Given the description of an element on the screen output the (x, y) to click on. 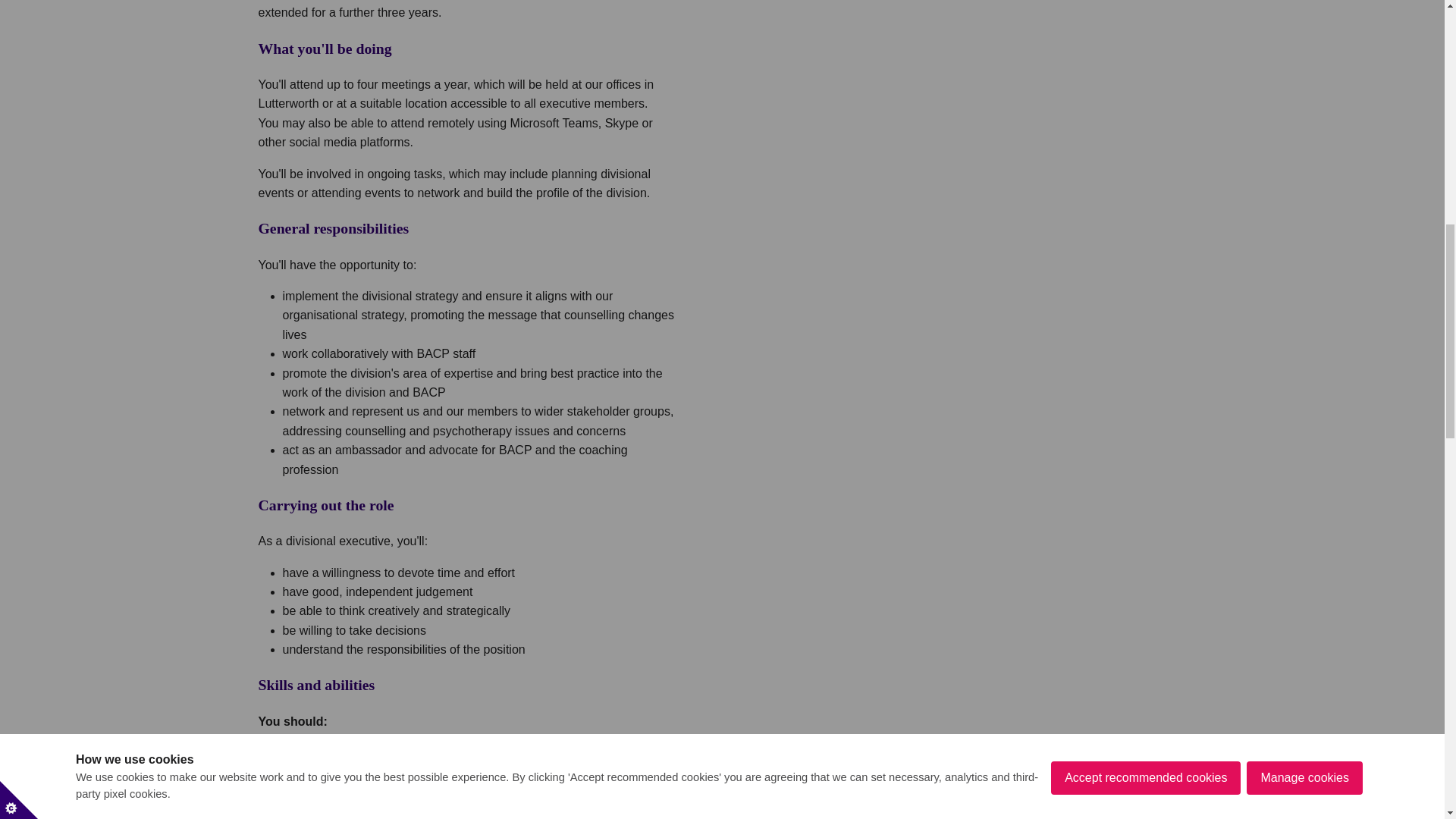
Accept recommended cookies (1145, 17)
Manage cookies (1304, 12)
